Given the description of an element on the screen output the (x, y) to click on. 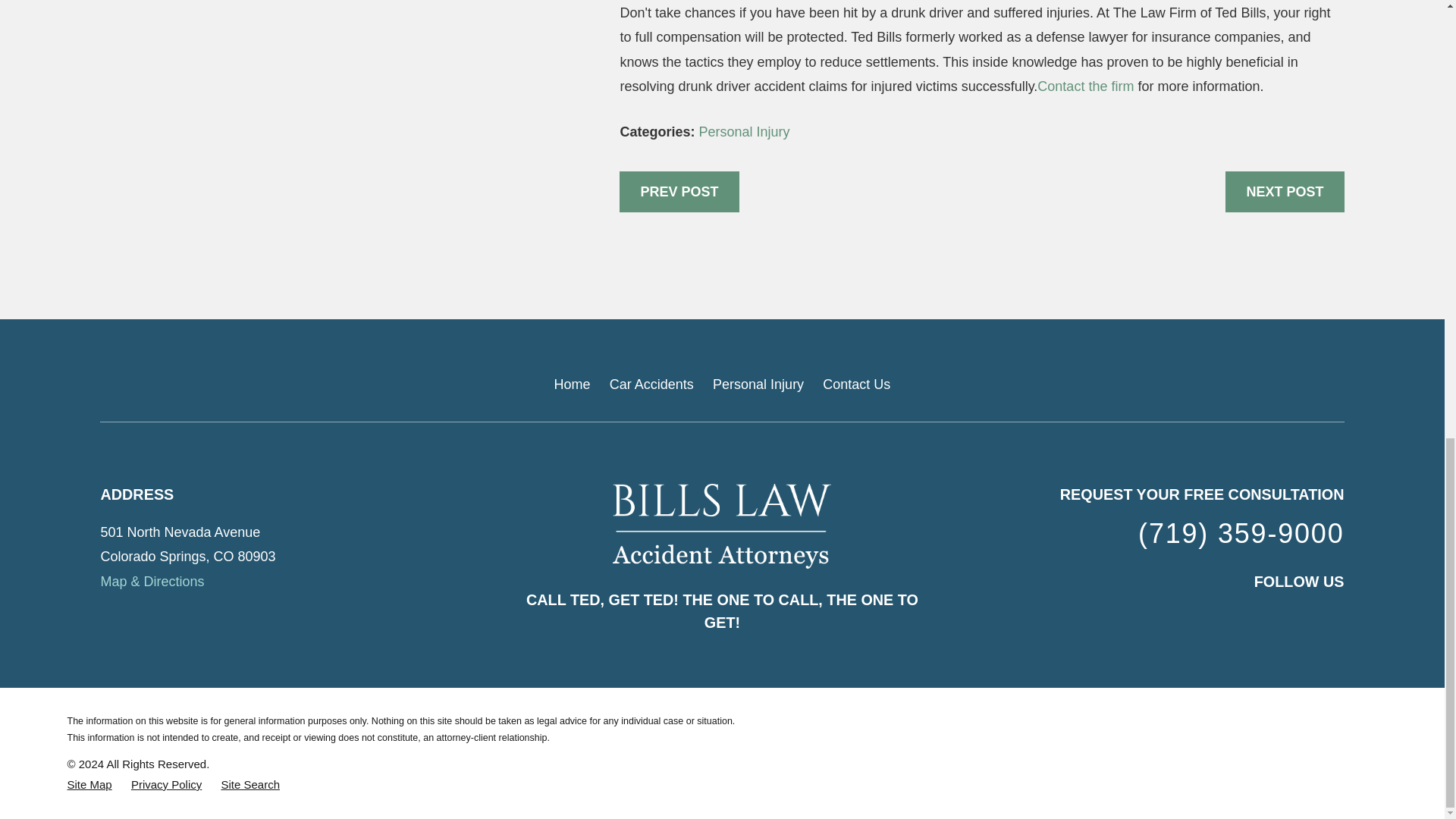
Home (721, 526)
Twitter (1333, 616)
